Given the description of an element on the screen output the (x, y) to click on. 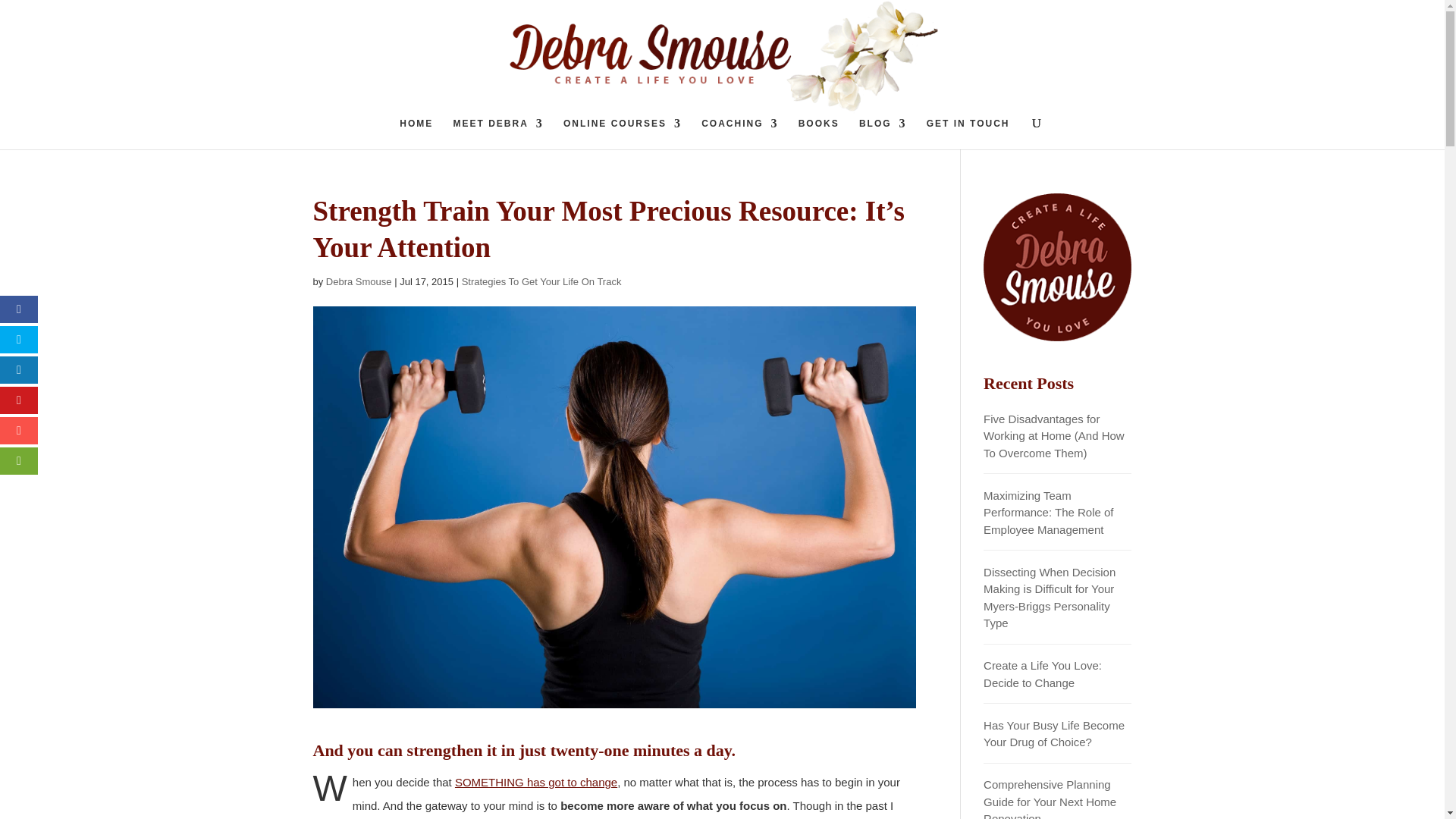
GET IN TOUCH (968, 133)
MEET DEBRA (497, 133)
COACHING (739, 133)
Posts by Debra Smouse (358, 281)
Books by Debra Smouse (818, 133)
ONLINE COURSES (622, 133)
BOOKS (818, 133)
BLOG (883, 133)
HOME (415, 133)
